Given the description of an element on the screen output the (x, y) to click on. 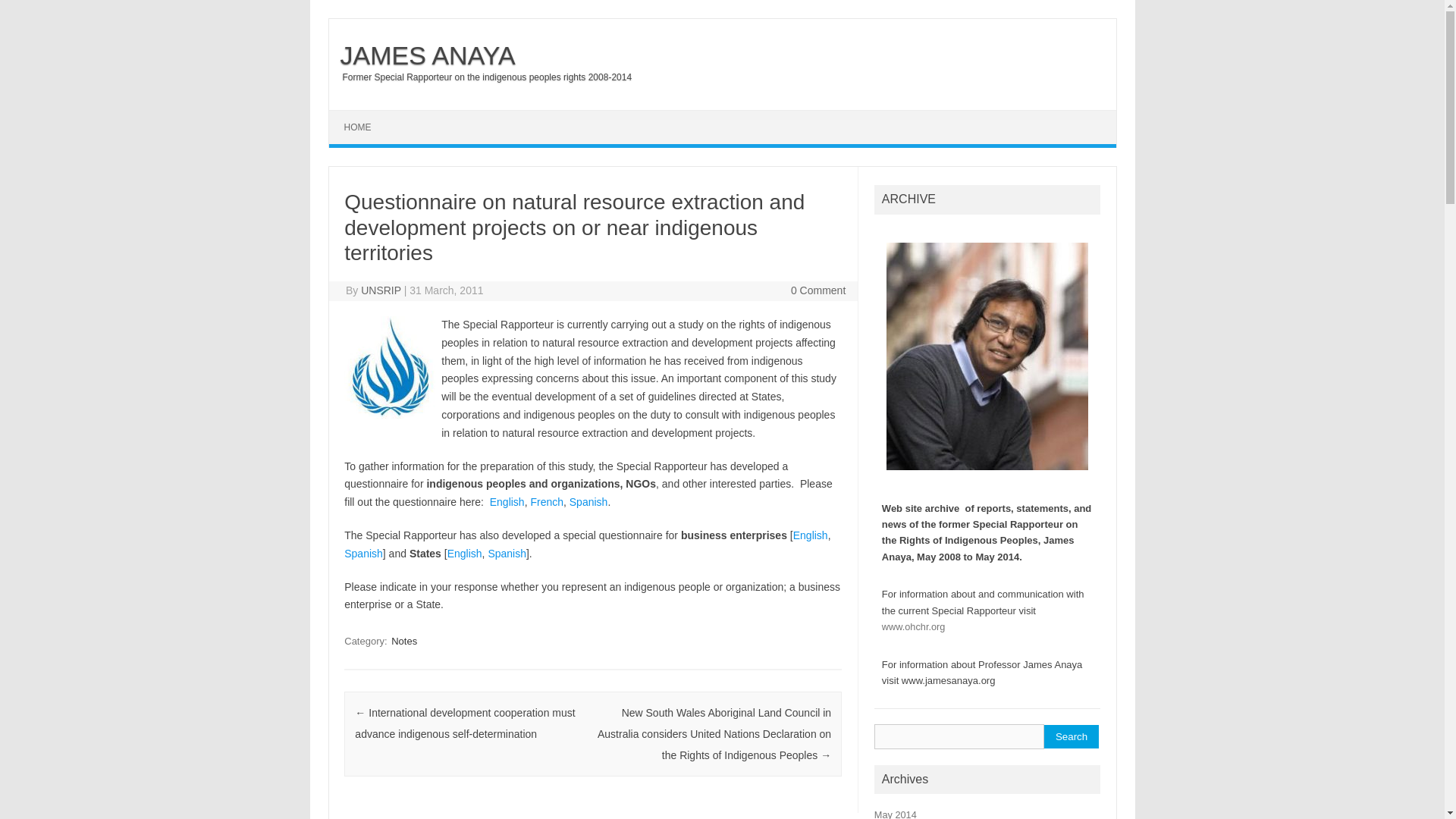
Posts by UNSRIP (381, 290)
www.ohchr.org (913, 626)
0 Comment (817, 290)
Skip to content (363, 114)
May 2014 (896, 814)
Skip to content (363, 114)
HOME (358, 127)
JAMES ANAYA (422, 54)
Search (1070, 736)
Spanish (588, 501)
